Given the description of an element on the screen output the (x, y) to click on. 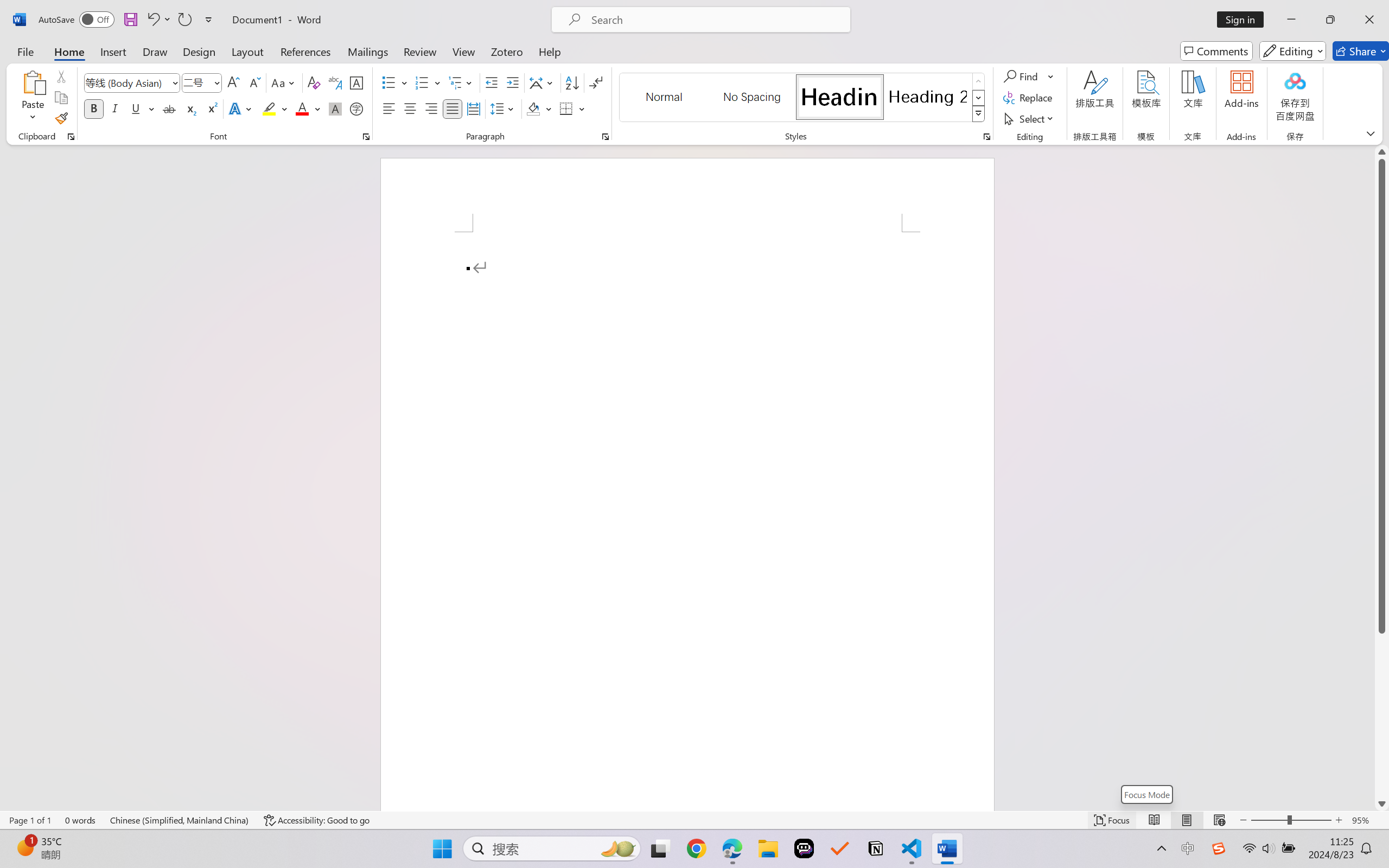
Line down (1382, 803)
